Given the description of an element on the screen output the (x, y) to click on. 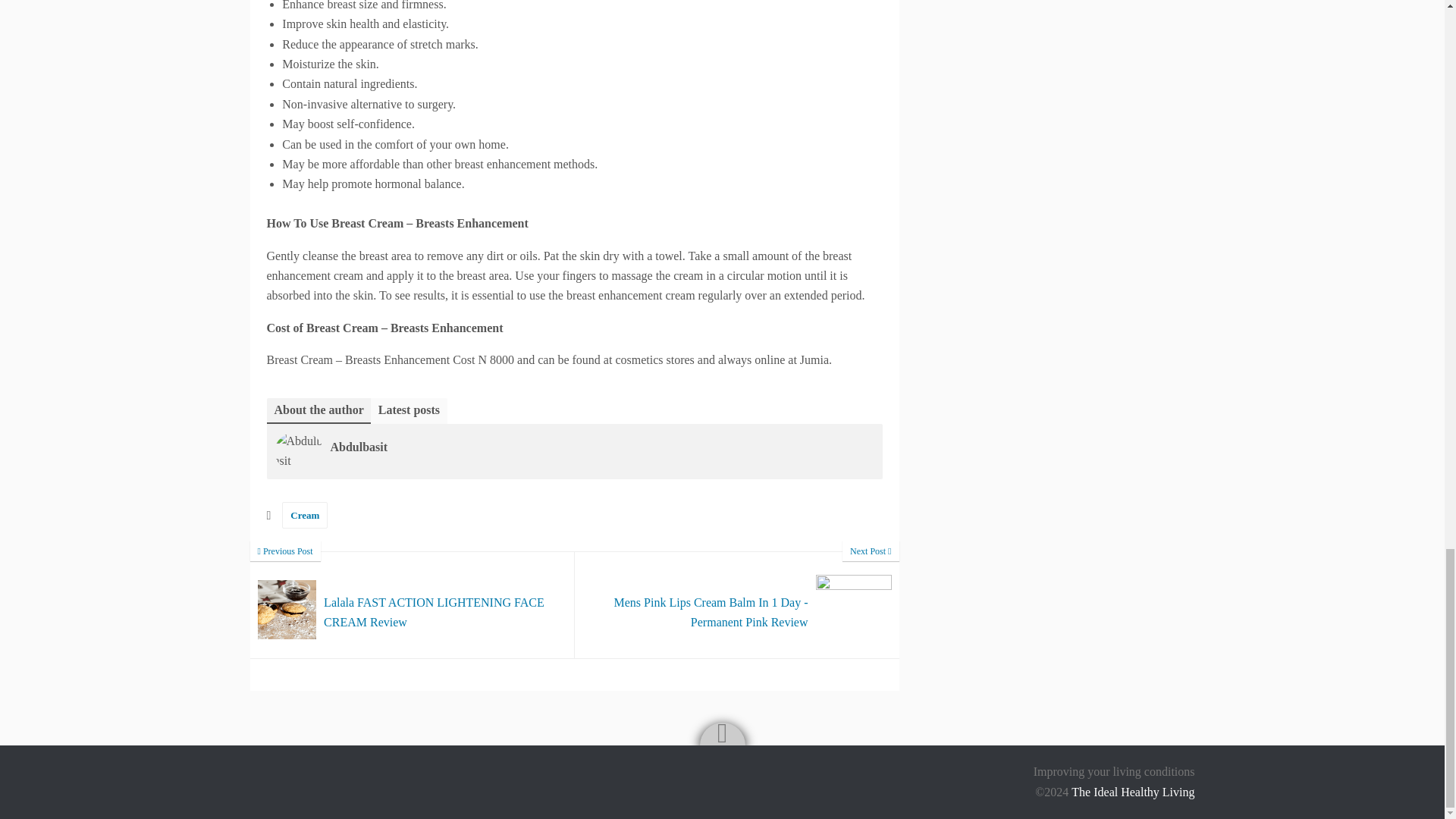
The Ideal Healthy Living (1132, 792)
Lalala FAST ACTION LIGHTENING FACE CREAM Review (412, 605)
Mens Pink Lips Cream Balm In 1 Day -Permanent Pink Review (737, 605)
Cream (304, 515)
